Given the description of an element on the screen output the (x, y) to click on. 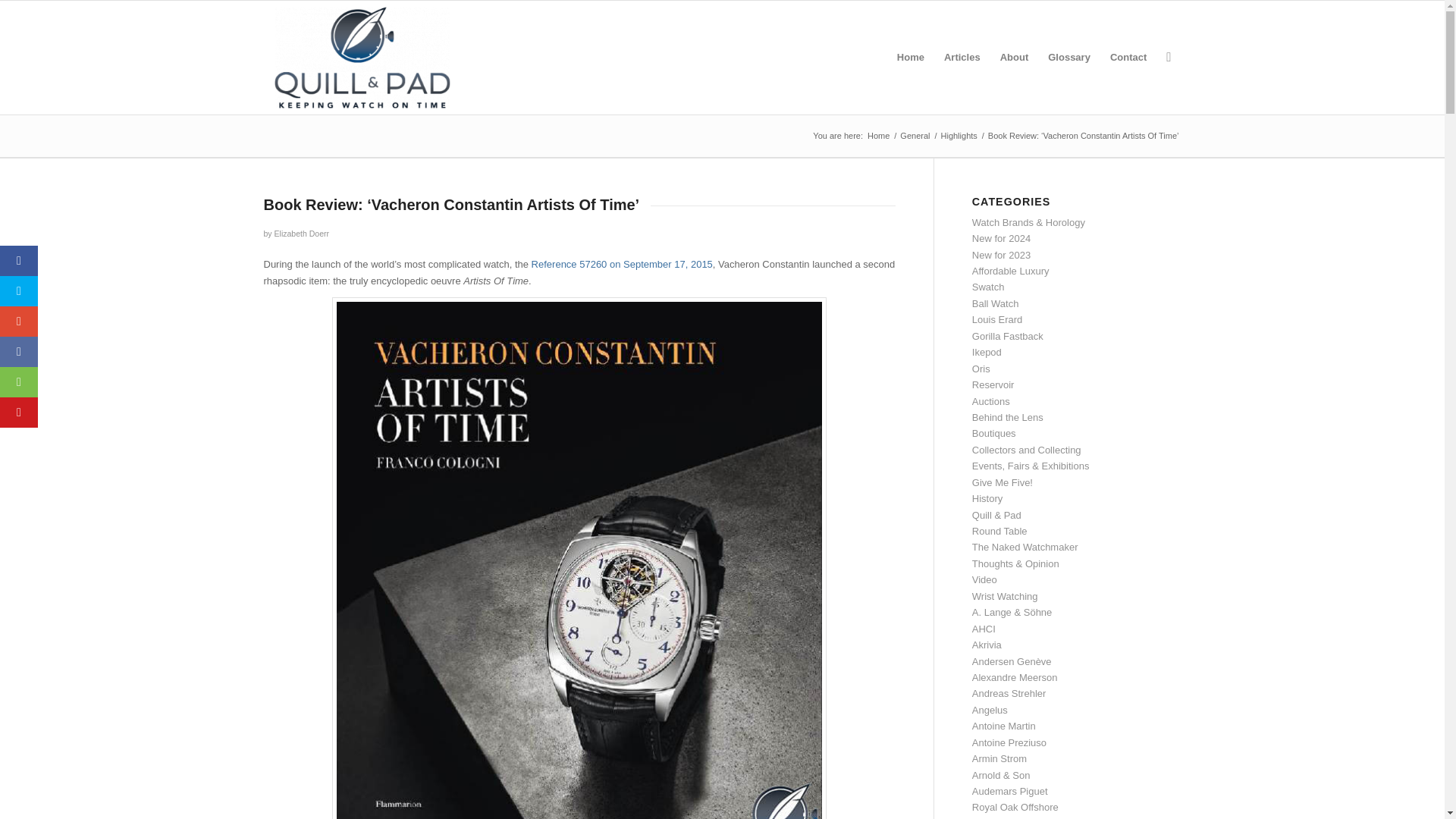
Reservoir (993, 384)
Gorilla Fastback (1007, 336)
Home (877, 135)
Highlights (959, 135)
Posts by Elizabeth Doerr (302, 233)
Affordable Luxury (1010, 270)
Swatch (988, 286)
New for 2024 (1001, 238)
New for 2023 (1001, 255)
Elizabeth Doerr (302, 233)
Ikepod (986, 351)
Ball Watch (995, 303)
Oris (981, 368)
Louis Erard (997, 319)
General (914, 135)
